Given the description of an element on the screen output the (x, y) to click on. 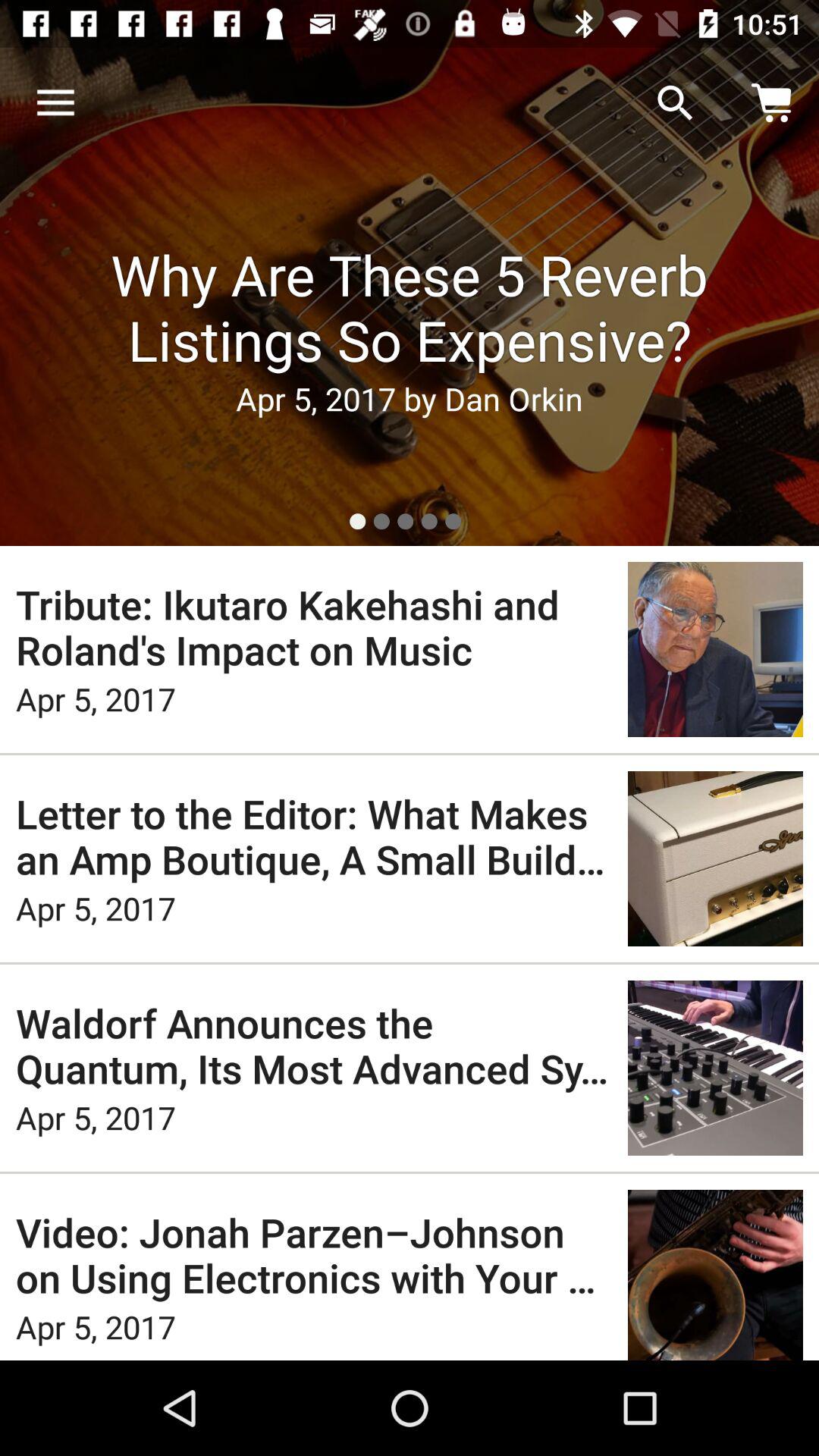
press item next to the news item (55, 103)
